Given the description of an element on the screen output the (x, y) to click on. 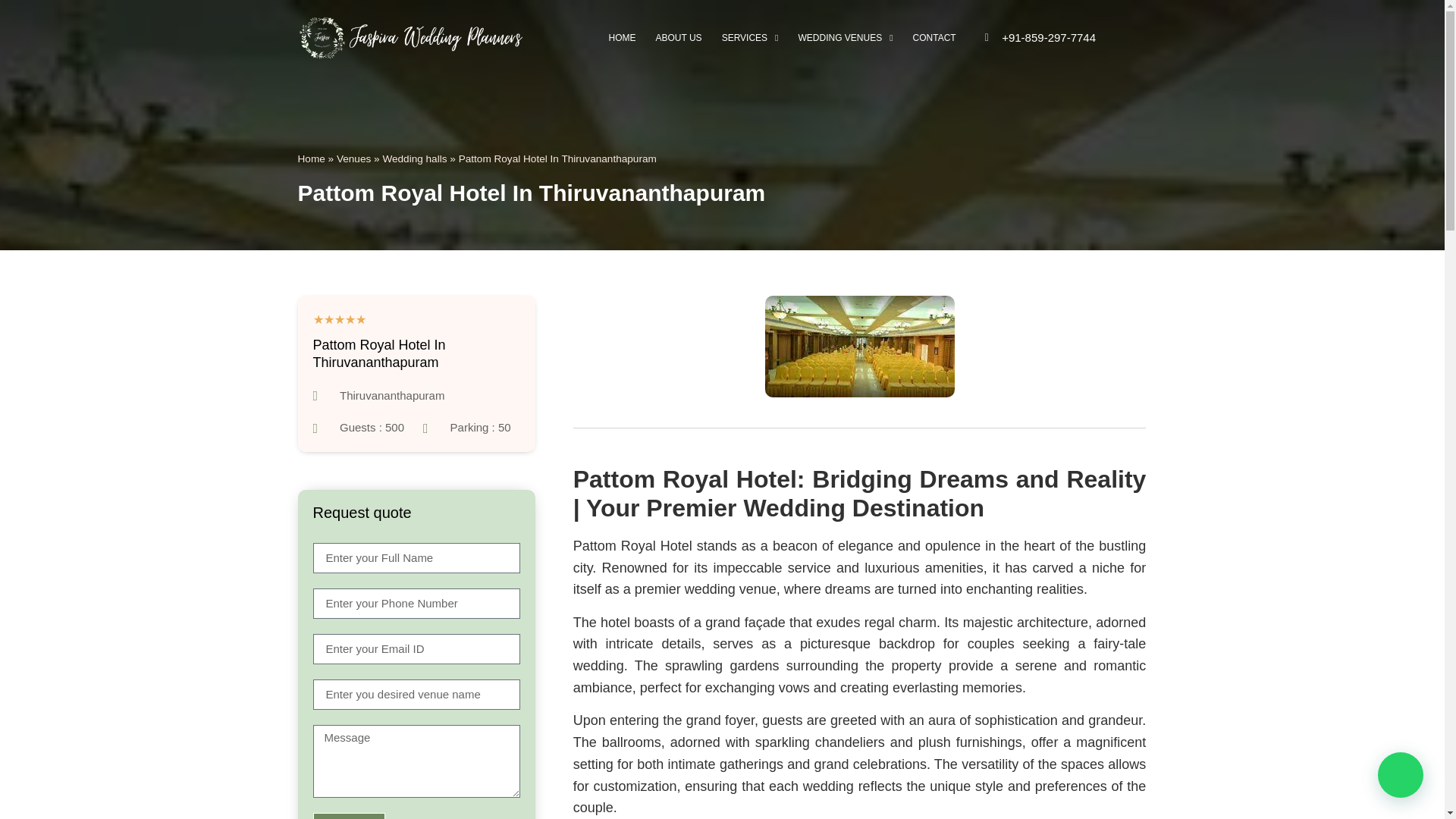
ABOUT US (678, 37)
HOME (622, 37)
CONTACT (934, 37)
WEDDING VENUES (844, 37)
SERVICES (750, 37)
